Given the description of an element on the screen output the (x, y) to click on. 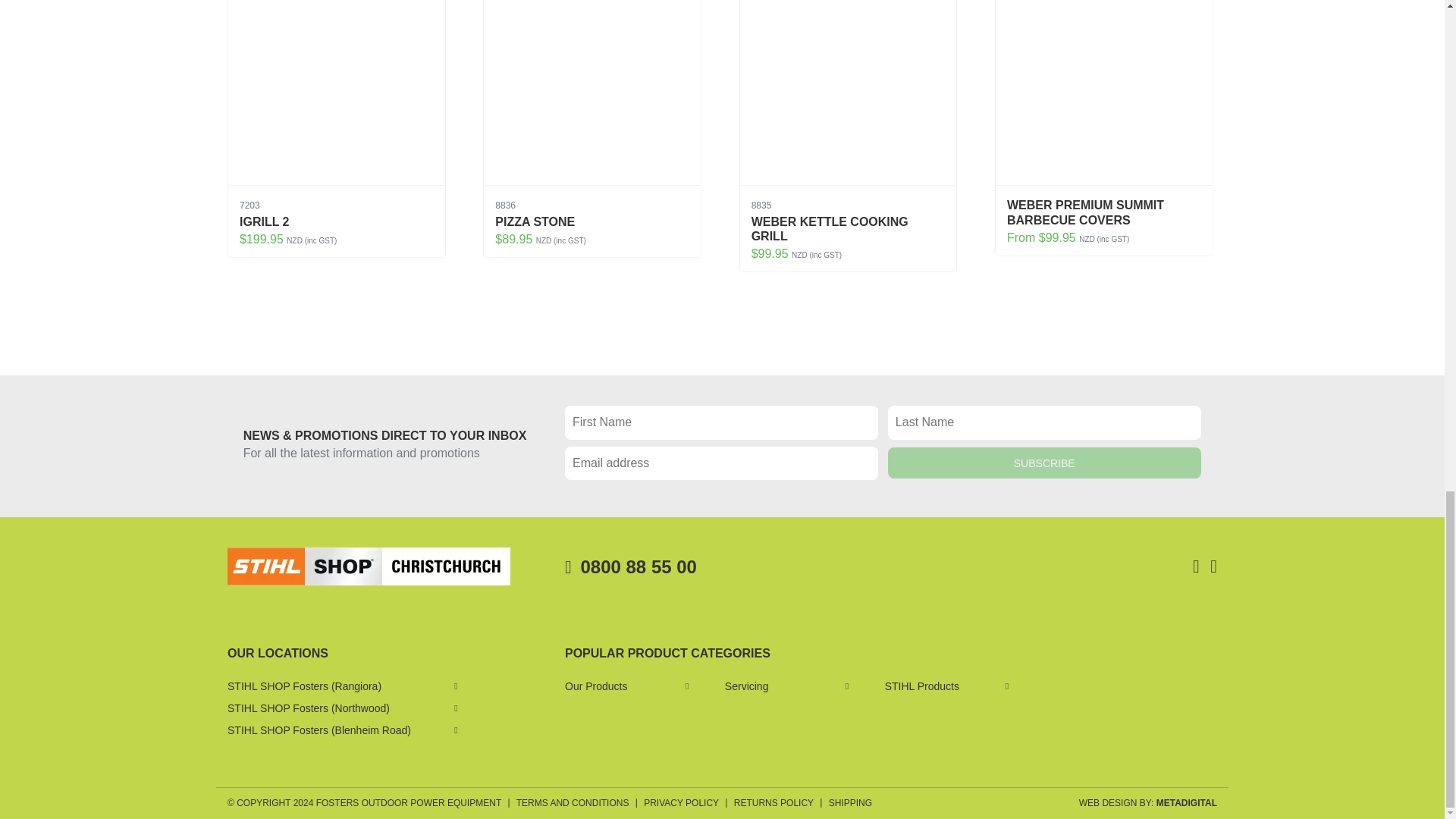
Subscribe (1044, 462)
